Given the description of an element on the screen output the (x, y) to click on. 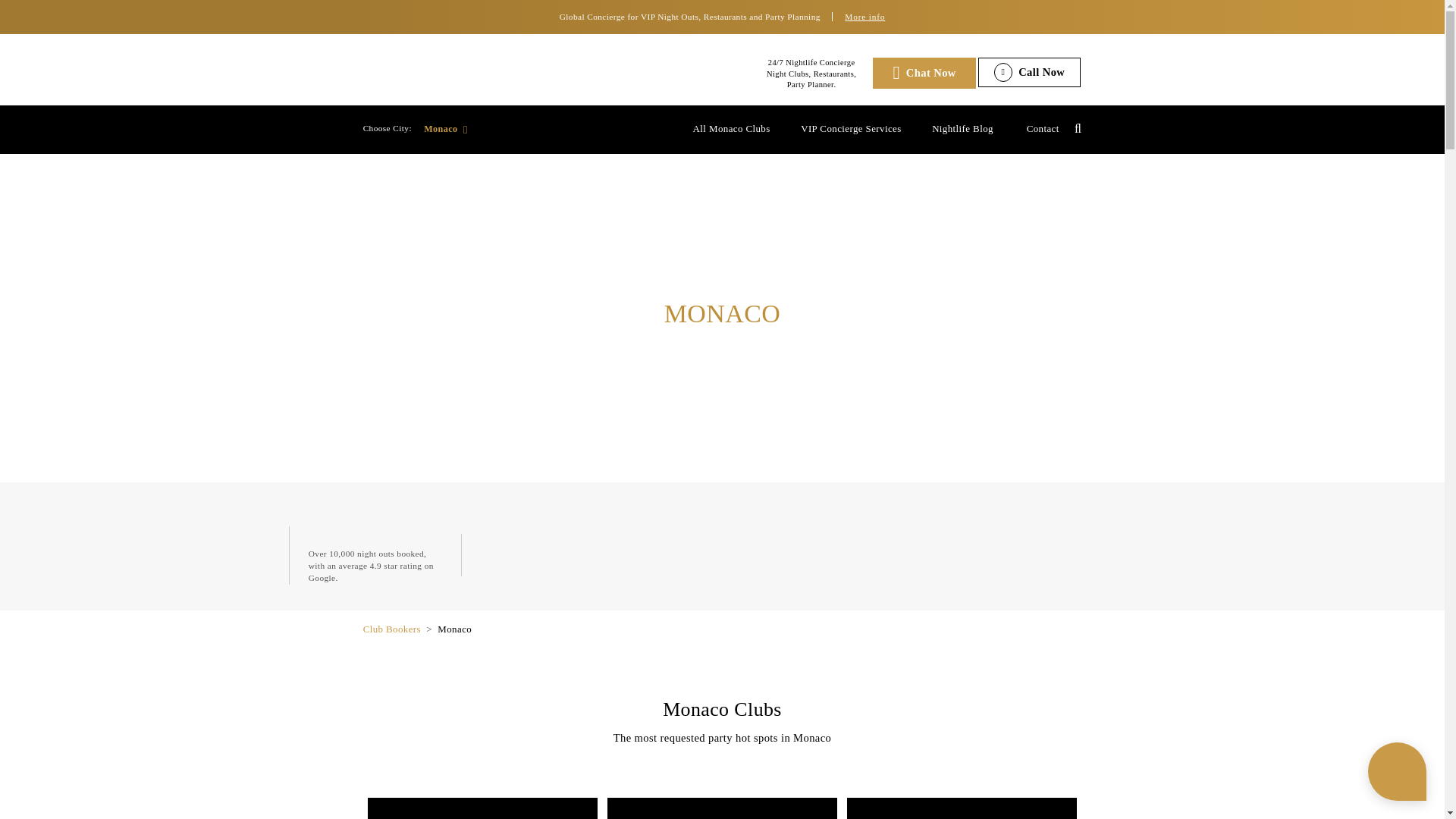
Chat Now (1141, 89)
Monaco (549, 158)
More info (1060, 19)
Call Now (1270, 89)
